Given the description of an element on the screen output the (x, y) to click on. 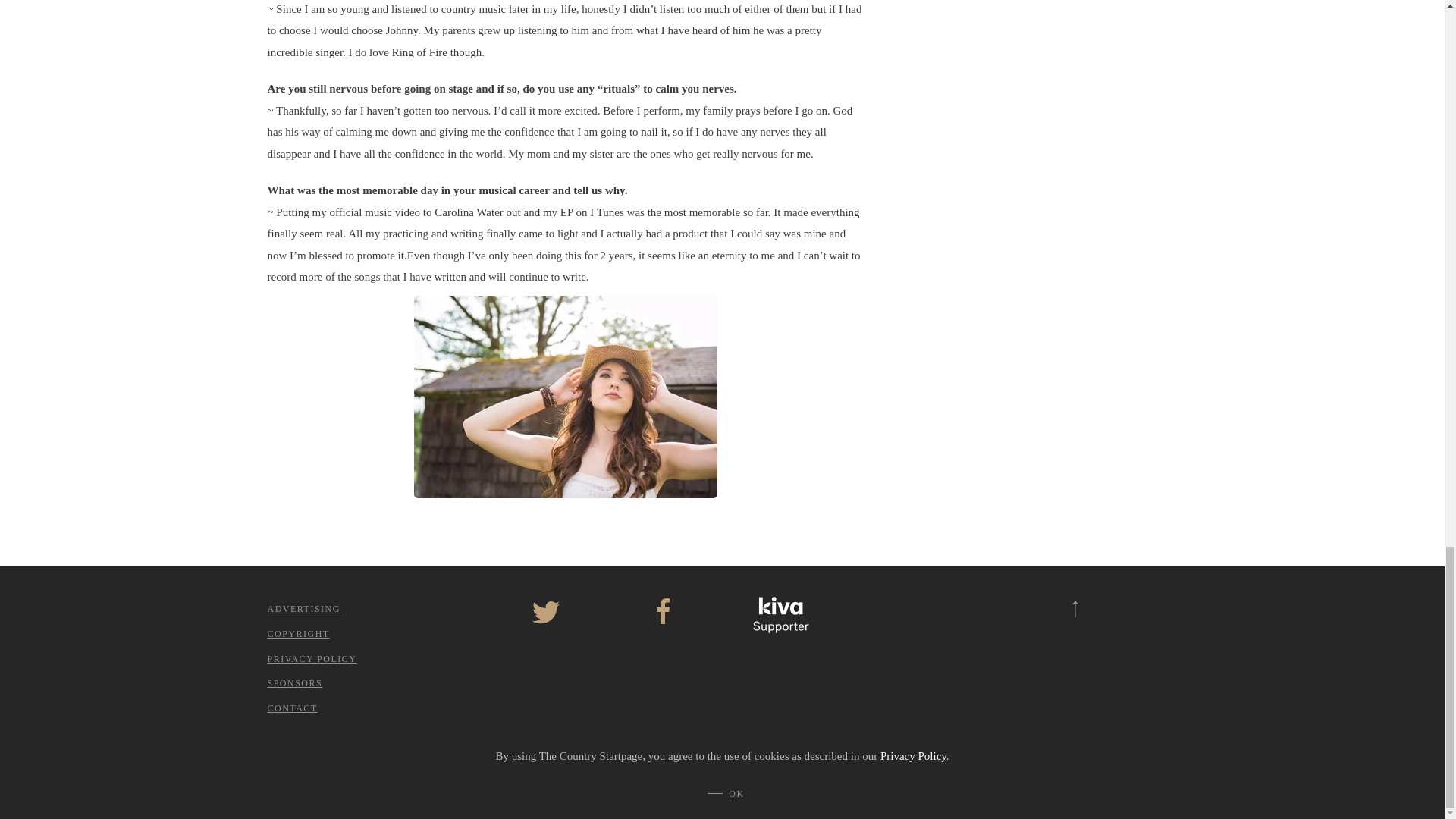
View TrustedSite Certification (898, 633)
